Given the description of an element on the screen output the (x, y) to click on. 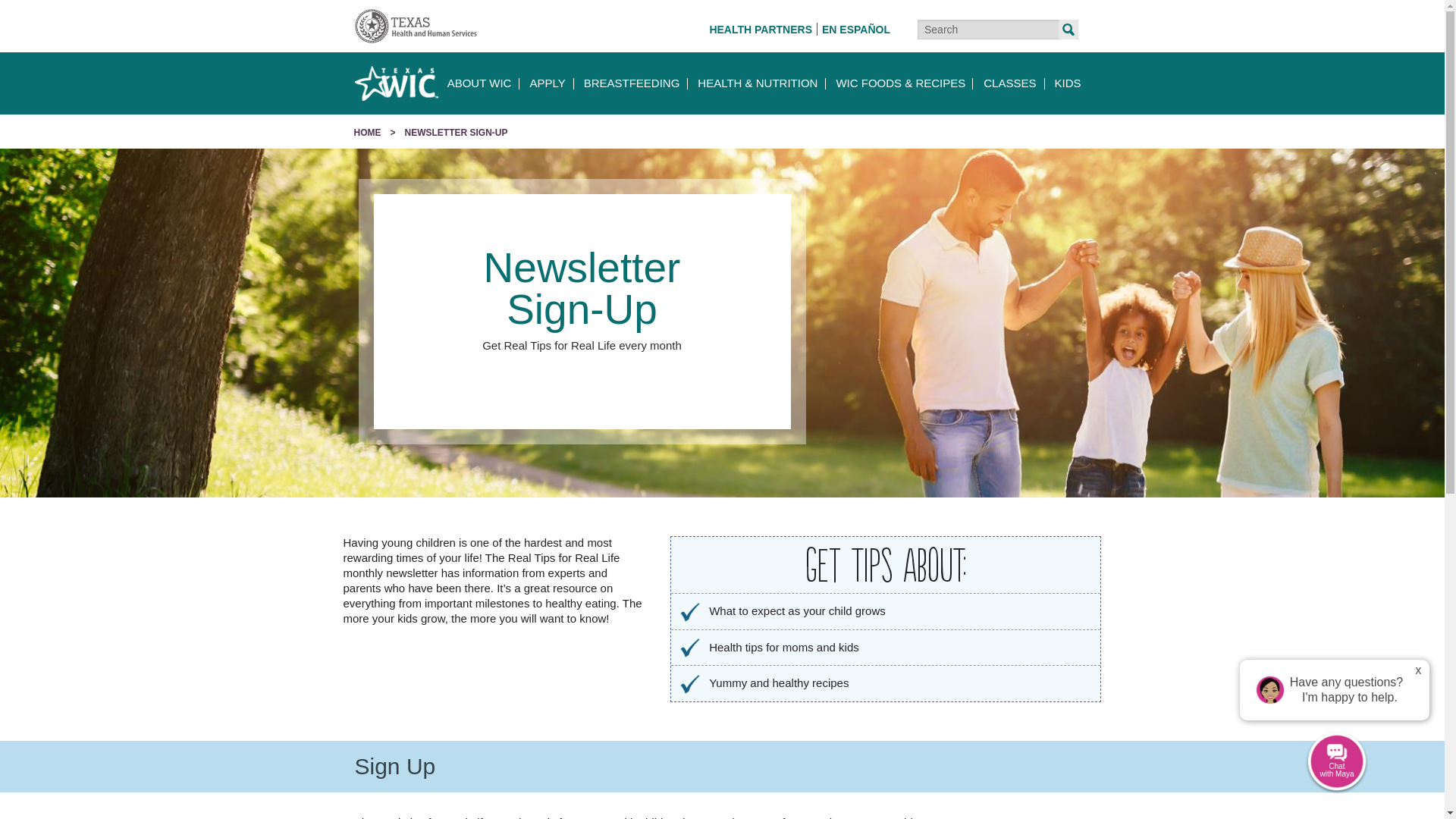
BREASTFEEDING (631, 83)
Texas Health And Human Services (416, 24)
ABOUT WIC (479, 83)
Enter the terms you wish to search for. (997, 29)
HEALTH PARTNERS (760, 29)
Texas WIC Home (396, 83)
Texas WIC (396, 83)
CLASSES (1009, 83)
